Given the description of an element on the screen output the (x, y) to click on. 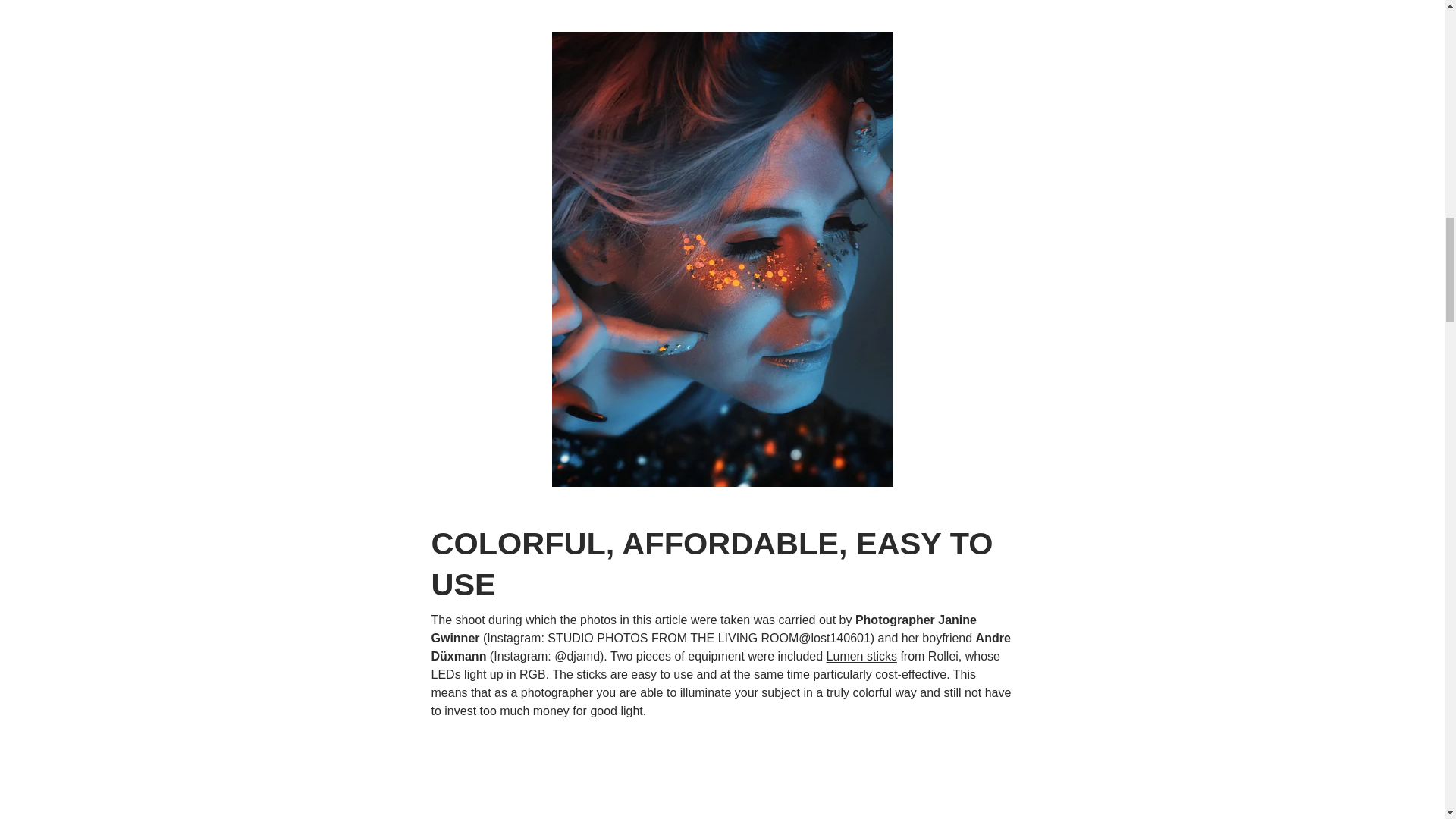
Lumen LED-Sticks von Rollei (861, 656)
